Given the description of an element on the screen output the (x, y) to click on. 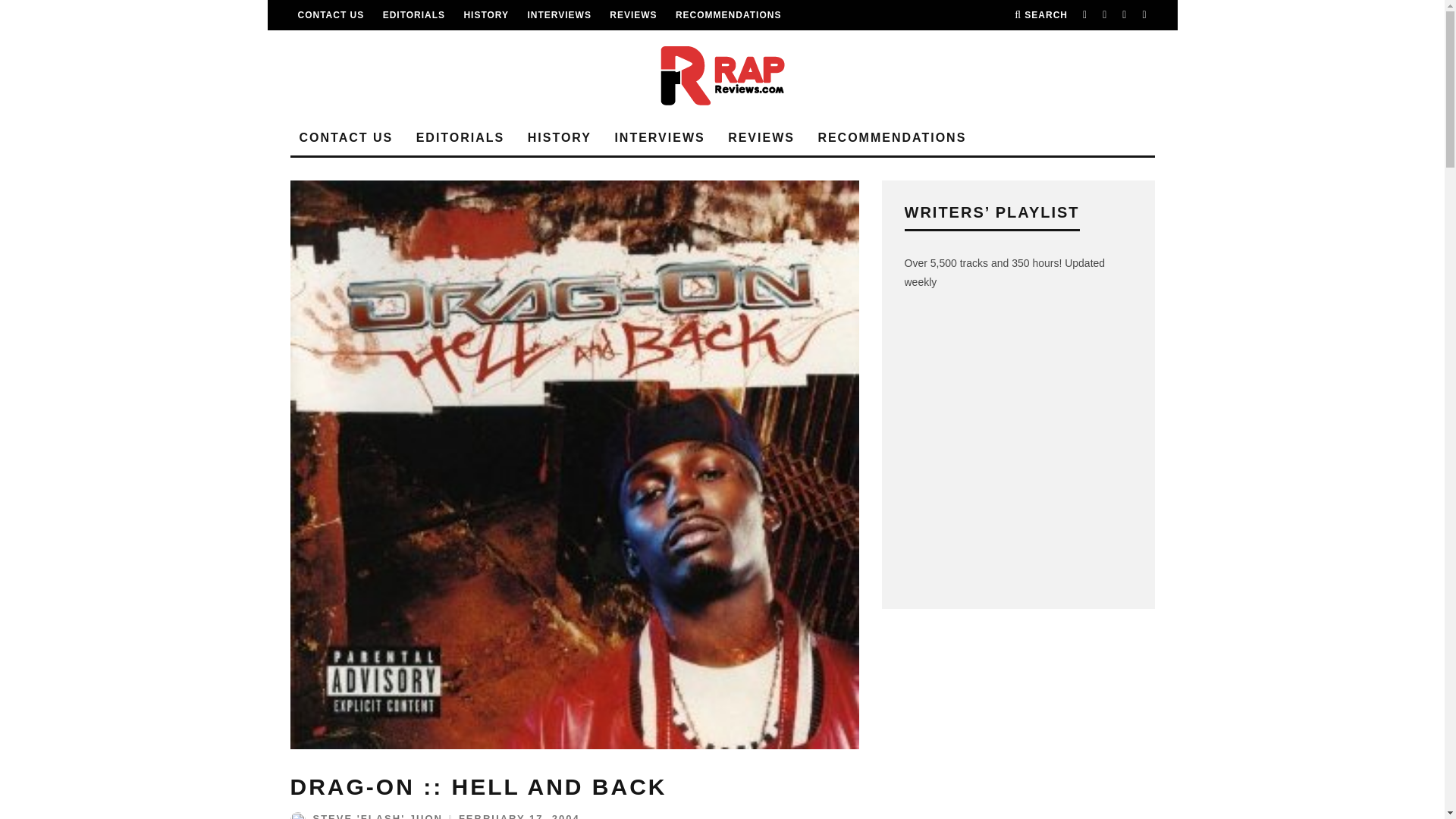
INTERVIEWS (559, 15)
Search (1040, 15)
CONTACT US (330, 15)
REVIEWS (633, 15)
SEARCH (1040, 15)
RECOMMENDATIONS (727, 15)
HISTORY (485, 15)
EDITORIALS (413, 15)
